Given the description of an element on the screen output the (x, y) to click on. 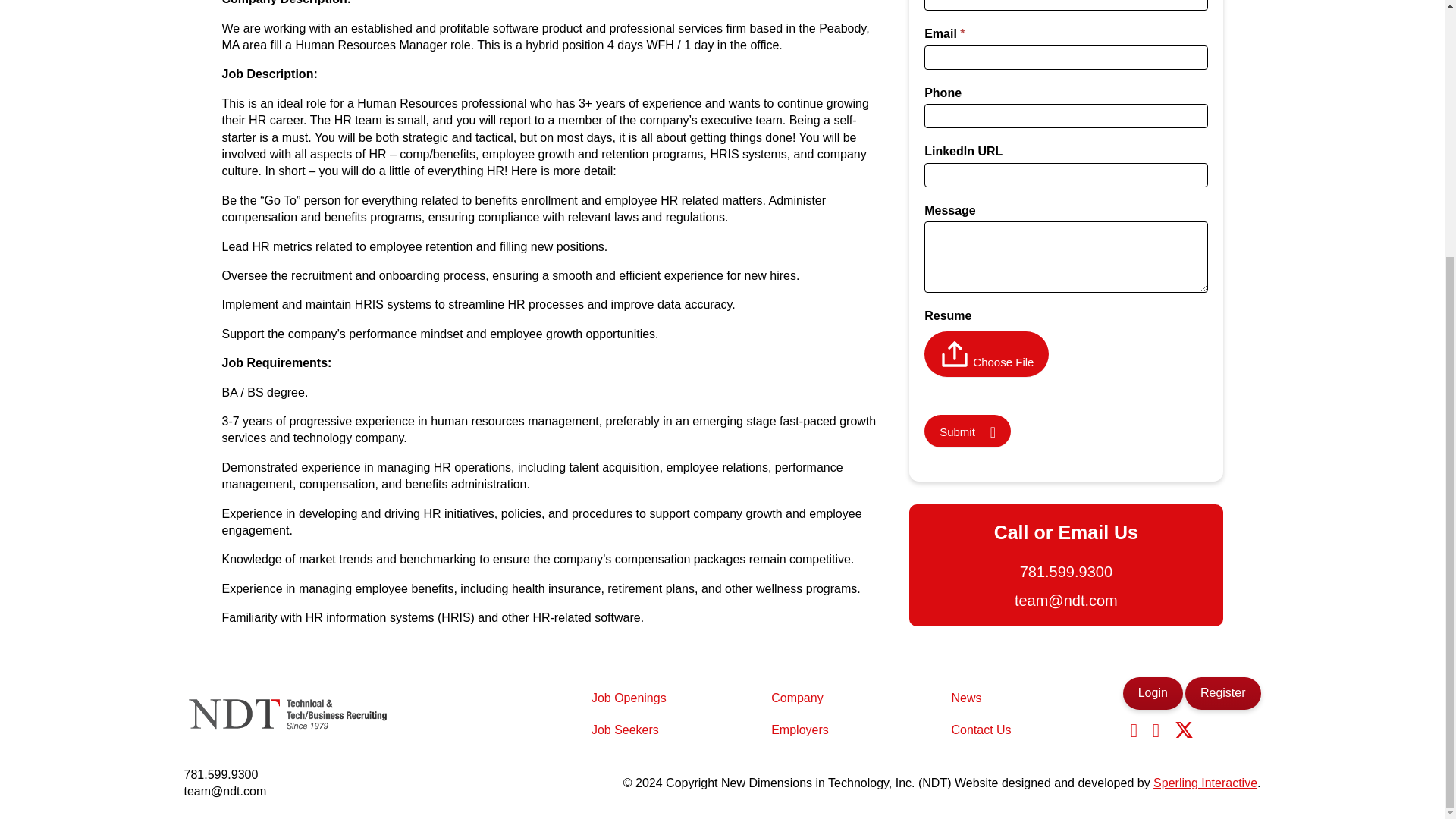
781.599.9300 (224, 774)
Job Openings (628, 698)
Employers (798, 730)
Contact Us (980, 730)
781.599.9300 (1065, 571)
Register (1222, 693)
Sperling Interactive (1205, 782)
News (965, 698)
Login (1152, 693)
Company (795, 698)
Job Seekers (624, 730)
Submit (967, 430)
Choose File (1002, 361)
